Given the description of an element on the screen output the (x, y) to click on. 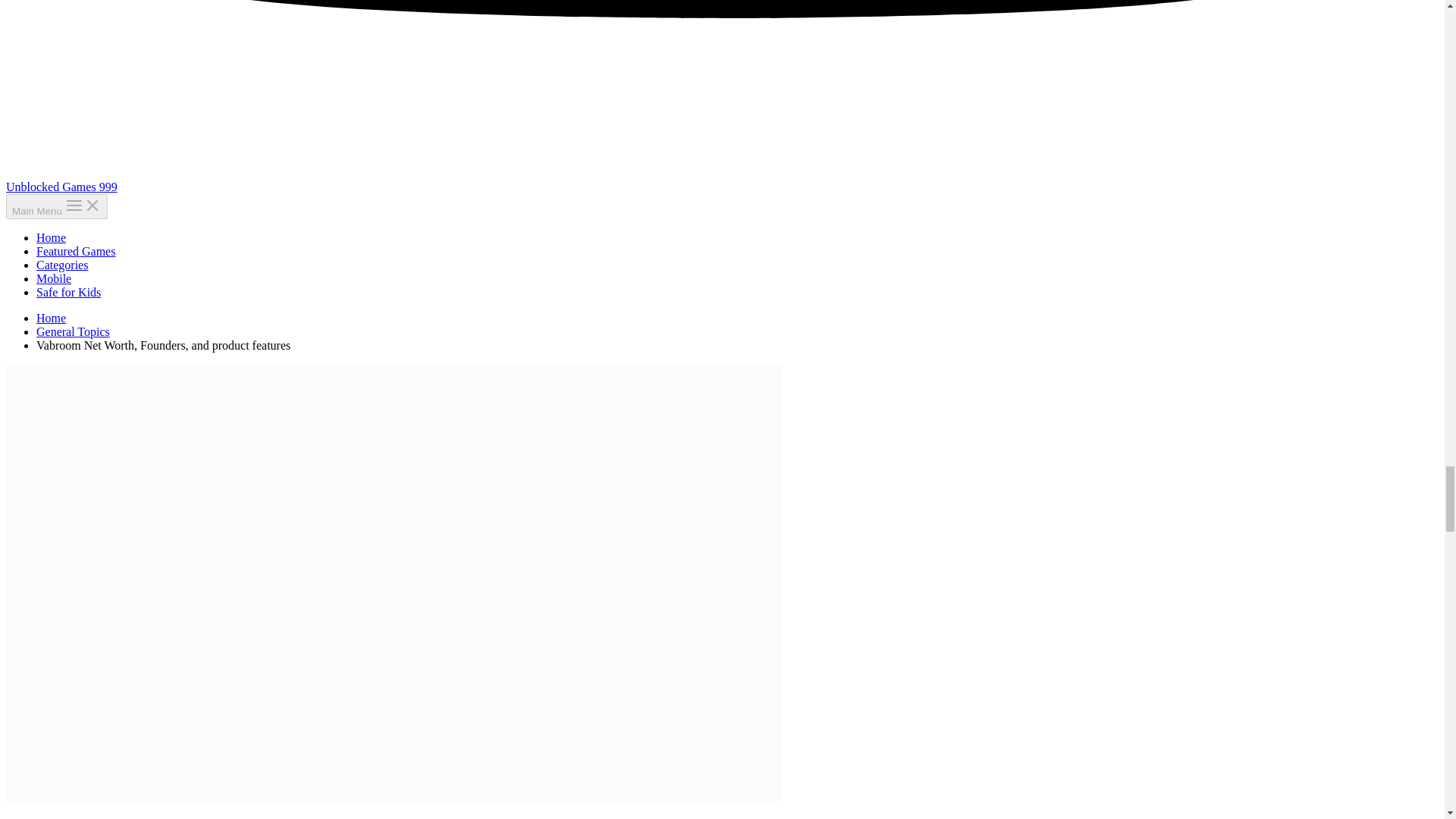
Home (50, 237)
Home (50, 318)
Safe for Kids (68, 291)
Mobile (53, 278)
Main Menu (56, 206)
Unblocked Games 999 (61, 186)
General Topics (73, 331)
Categories (61, 264)
Featured Games (75, 250)
